Given the description of an element on the screen output the (x, y) to click on. 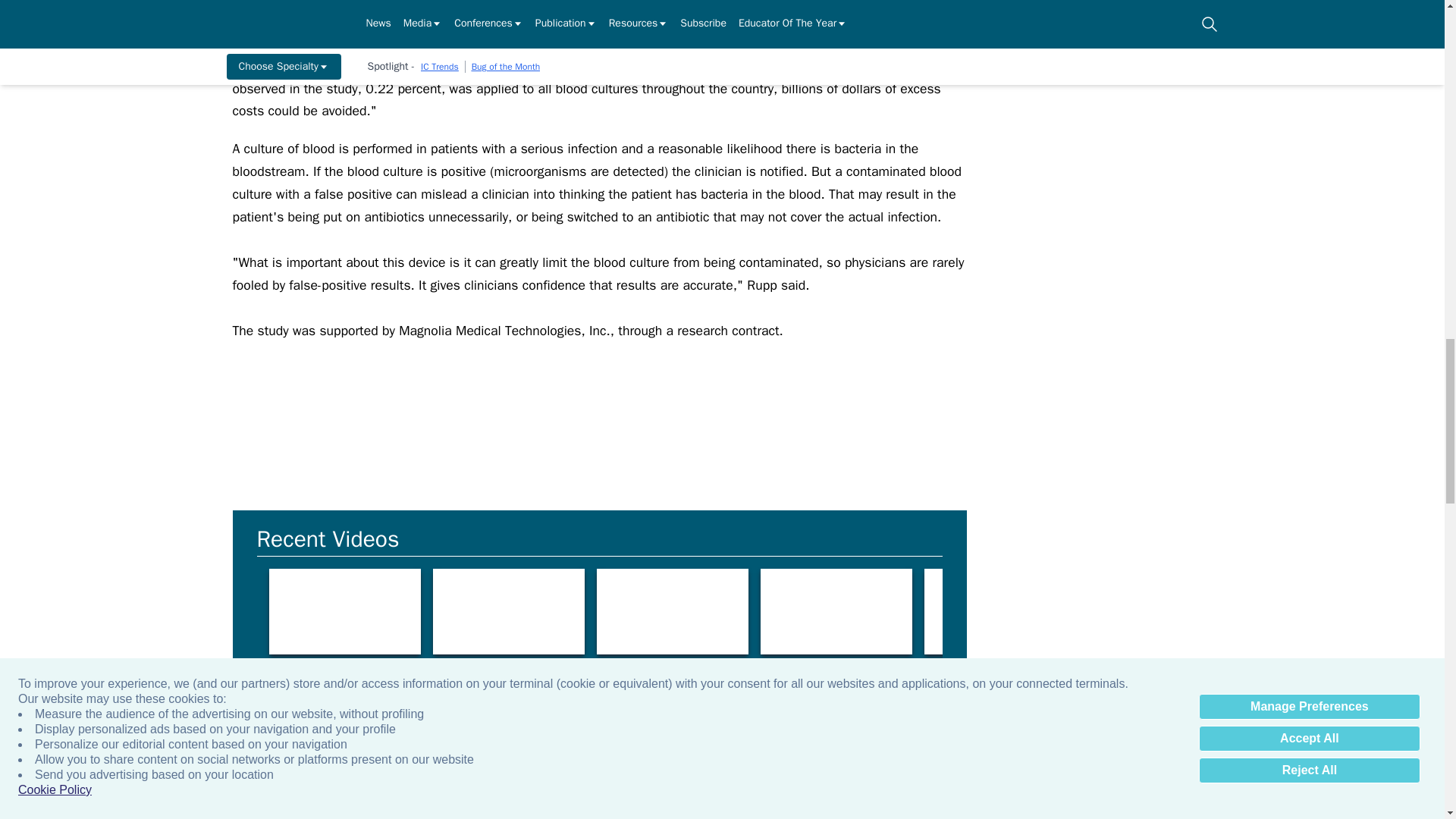
Jill Holdsworth, MS, CIC, FAPIC, CRCST, NREMT, CHL (835, 611)
